Given the description of an element on the screen output the (x, y) to click on. 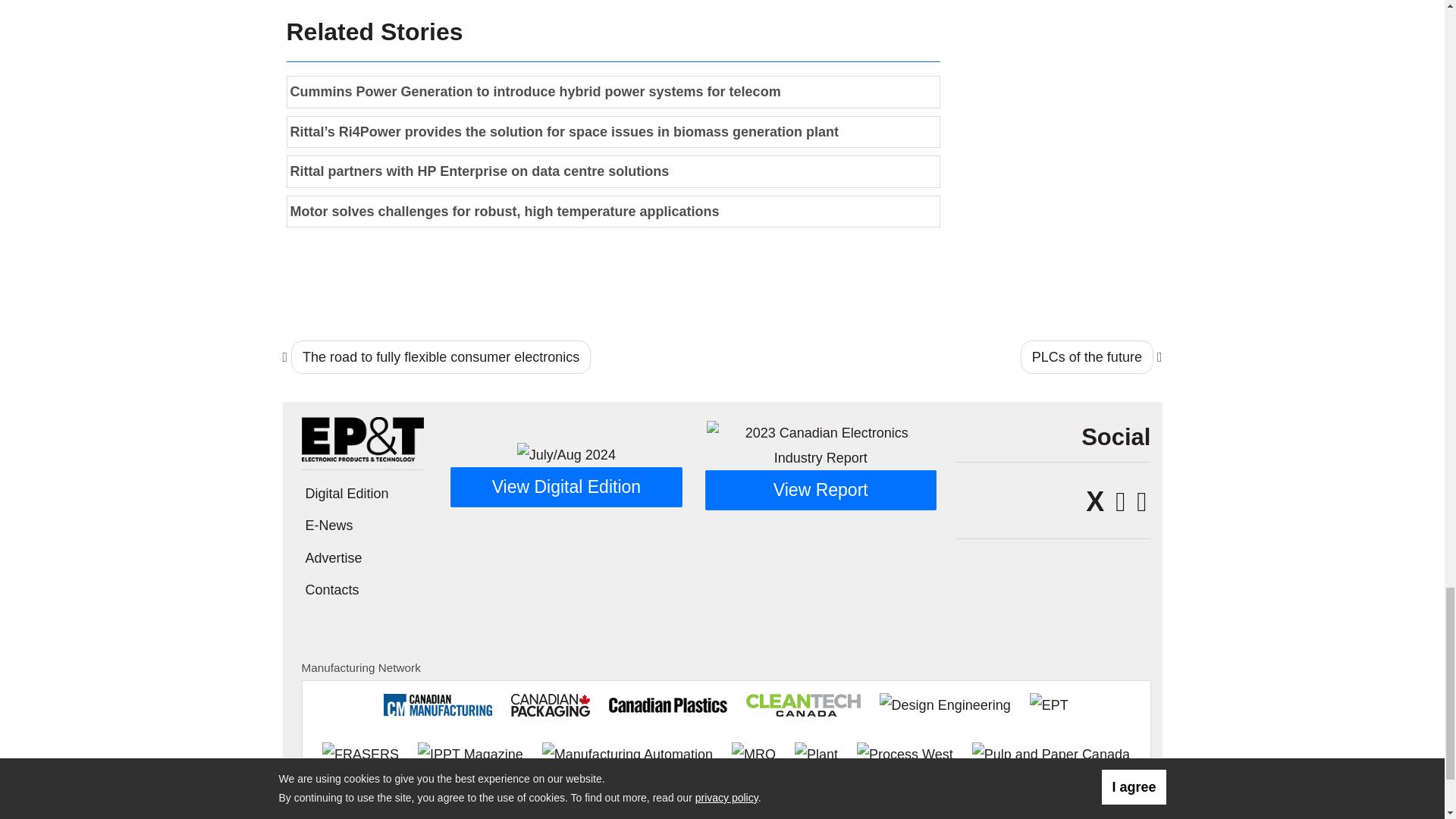
Annex Business Media (1080, 813)
